Given the description of an element on the screen output the (x, y) to click on. 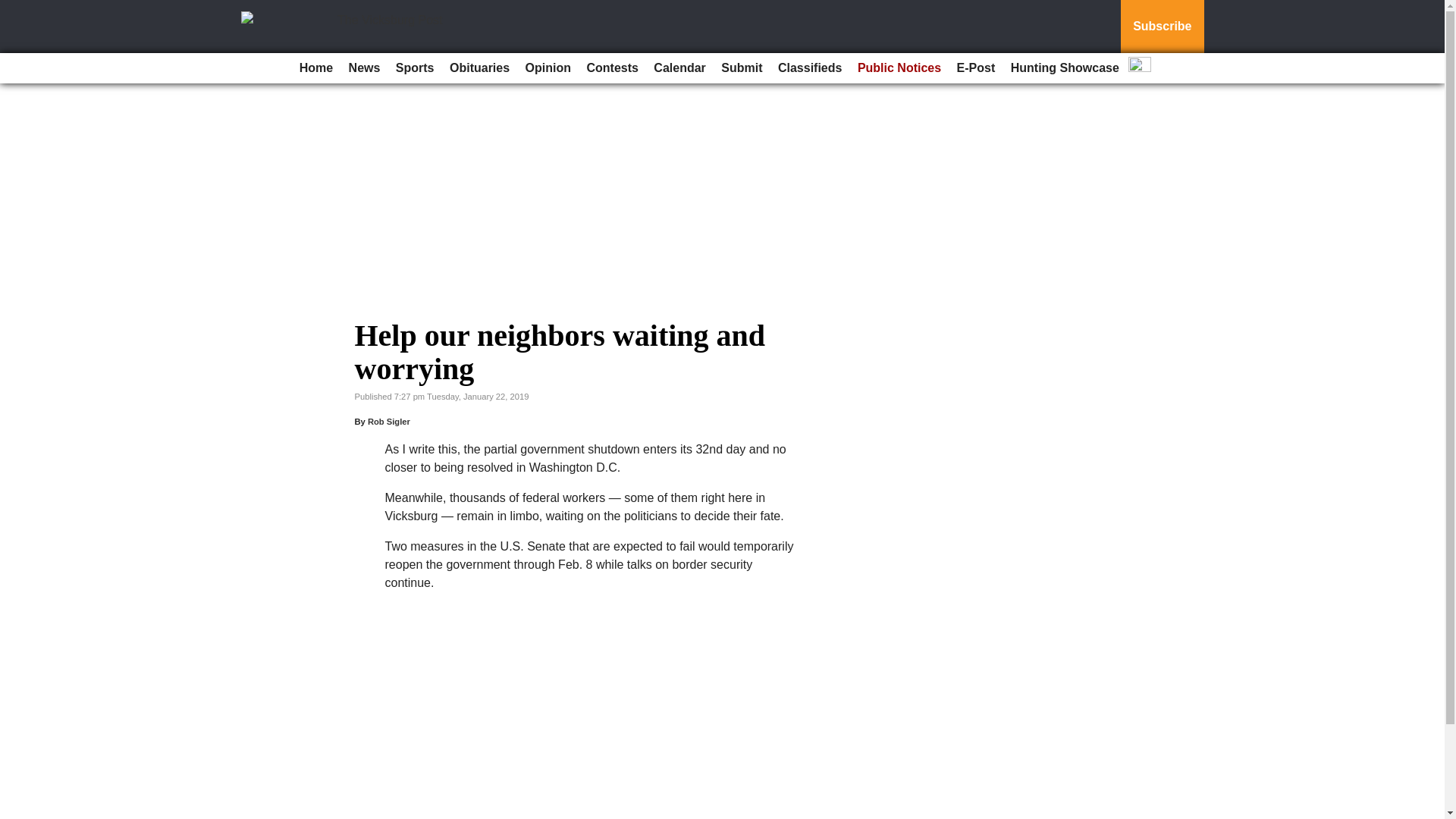
Hunting Showcase (1064, 68)
Public Notices (899, 68)
E-Post (975, 68)
Go (13, 9)
Submit (741, 68)
News (364, 68)
Sports (415, 68)
Calendar (679, 68)
Home (316, 68)
Subscribe (1162, 26)
